Given the description of an element on the screen output the (x, y) to click on. 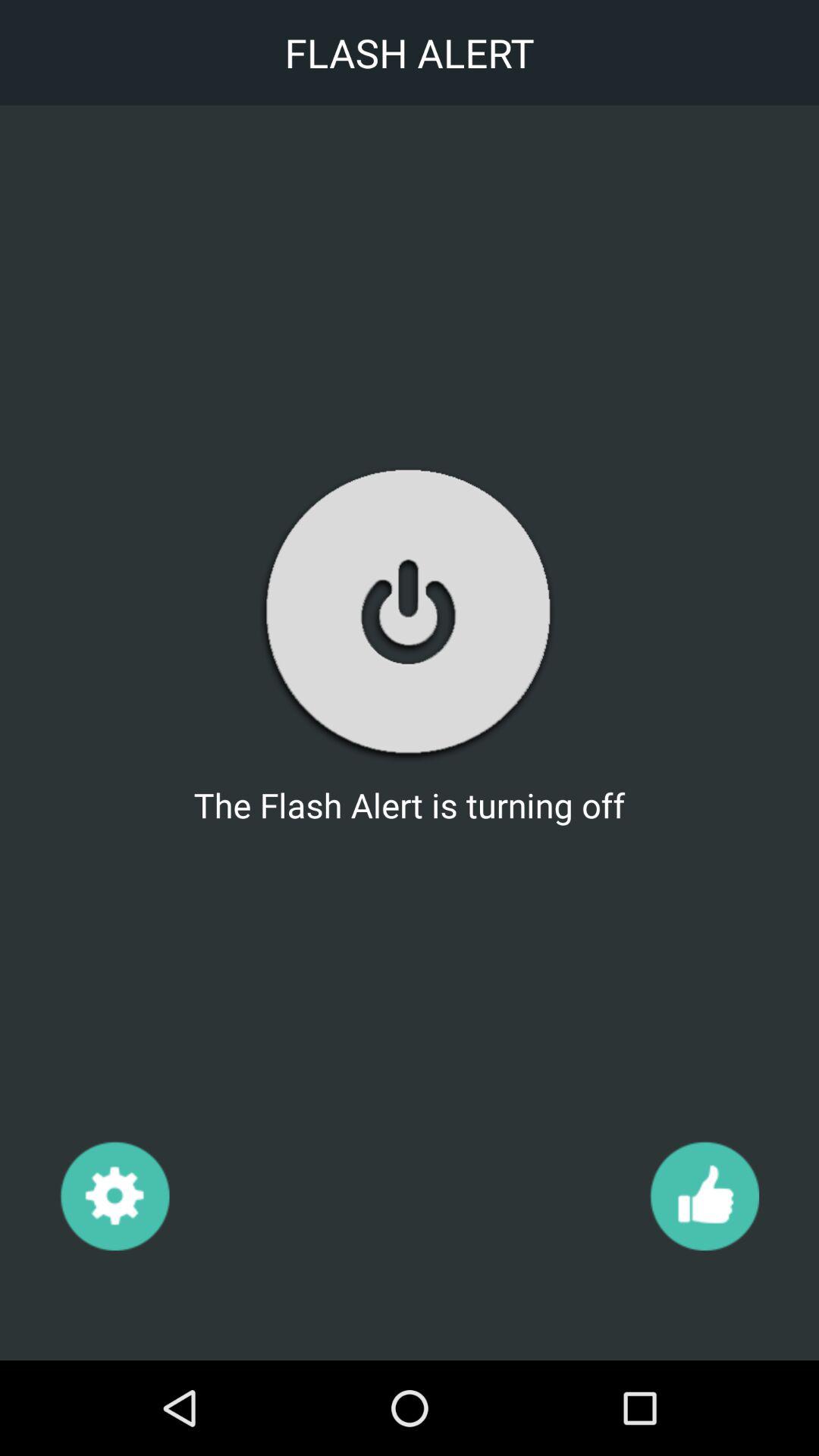
launch icon at the bottom right corner (704, 1195)
